Given the description of an element on the screen output the (x, y) to click on. 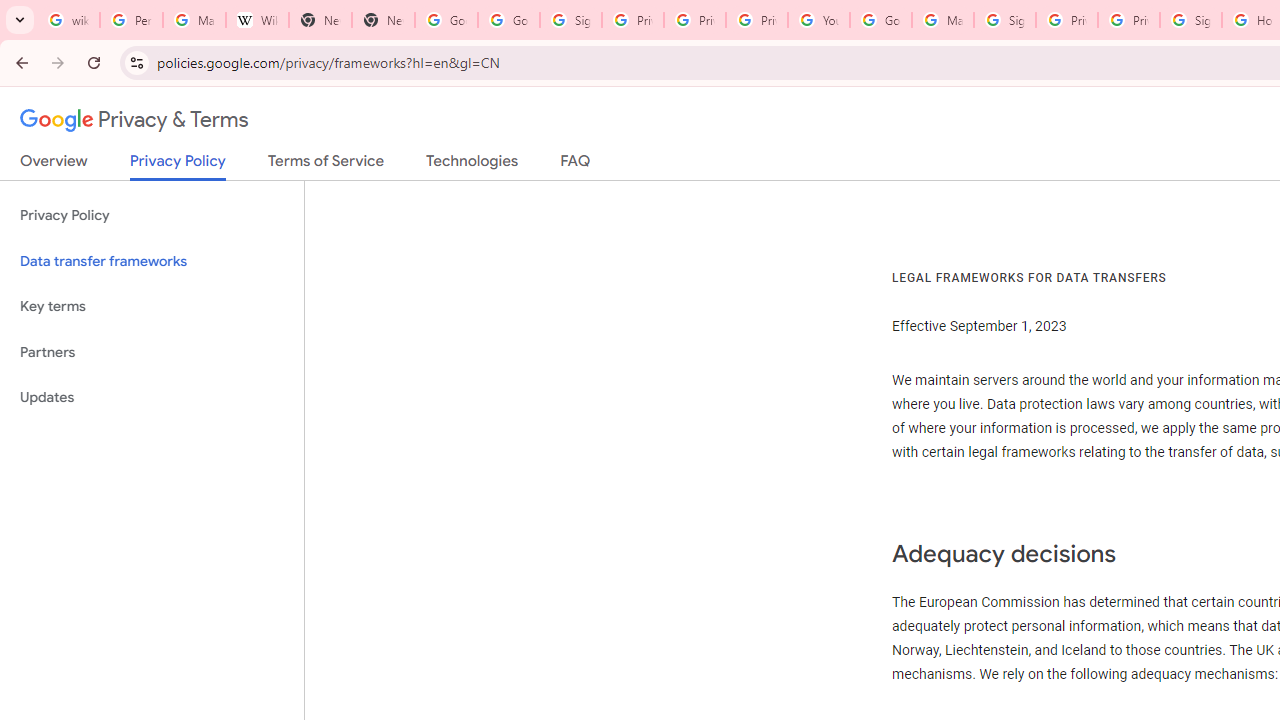
YouTube (818, 20)
